Given the description of an element on the screen output the (x, y) to click on. 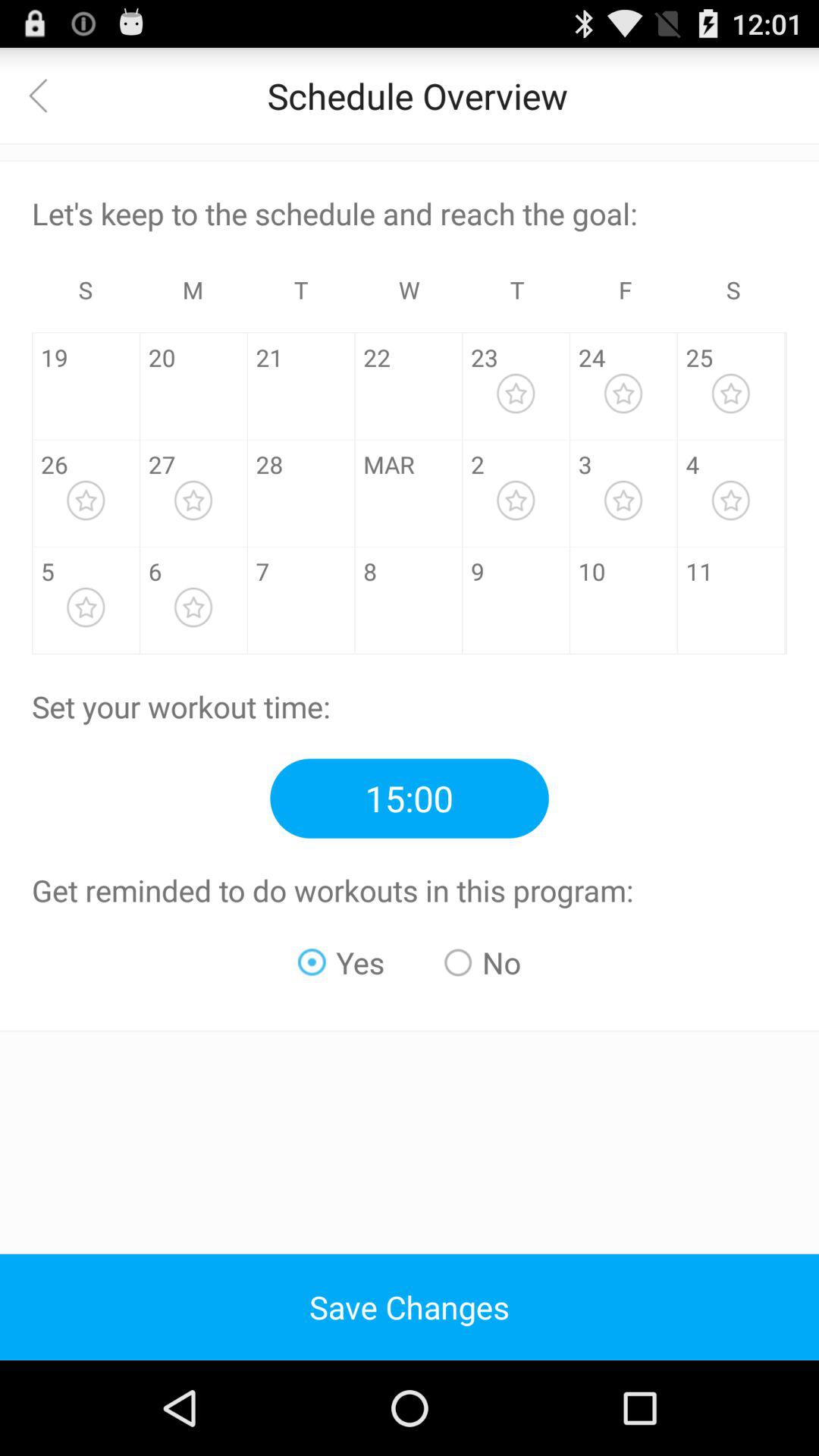
select the icon to the right of yes radio button (482, 962)
